Given the description of an element on the screen output the (x, y) to click on. 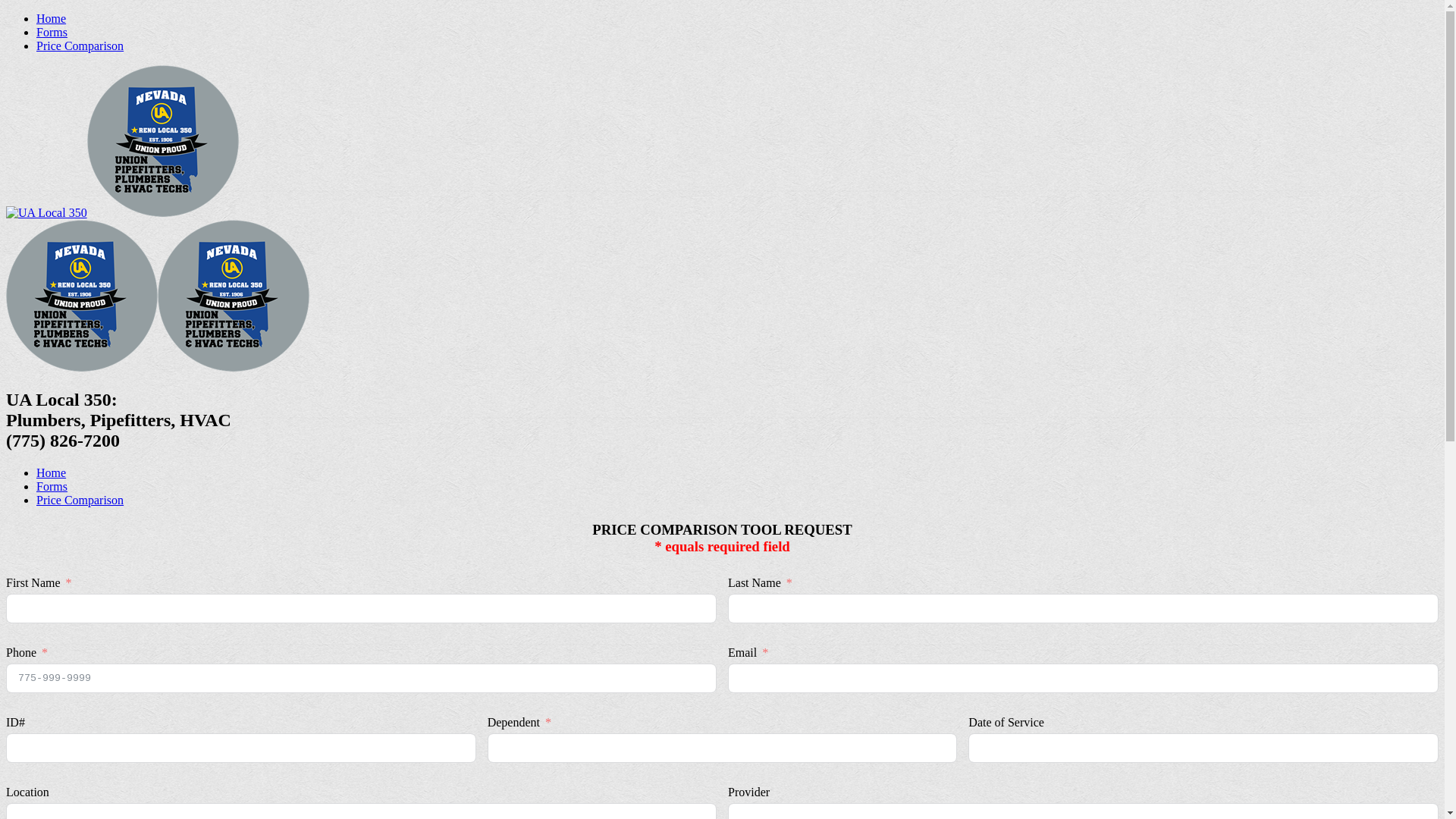
Forms Element type: text (51, 486)
Forms Element type: text (51, 31)
Home Element type: text (50, 472)
Price Comparison Element type: text (79, 45)
Price Comparison Element type: text (79, 499)
Home Element type: text (50, 18)
